Given the description of an element on the screen output the (x, y) to click on. 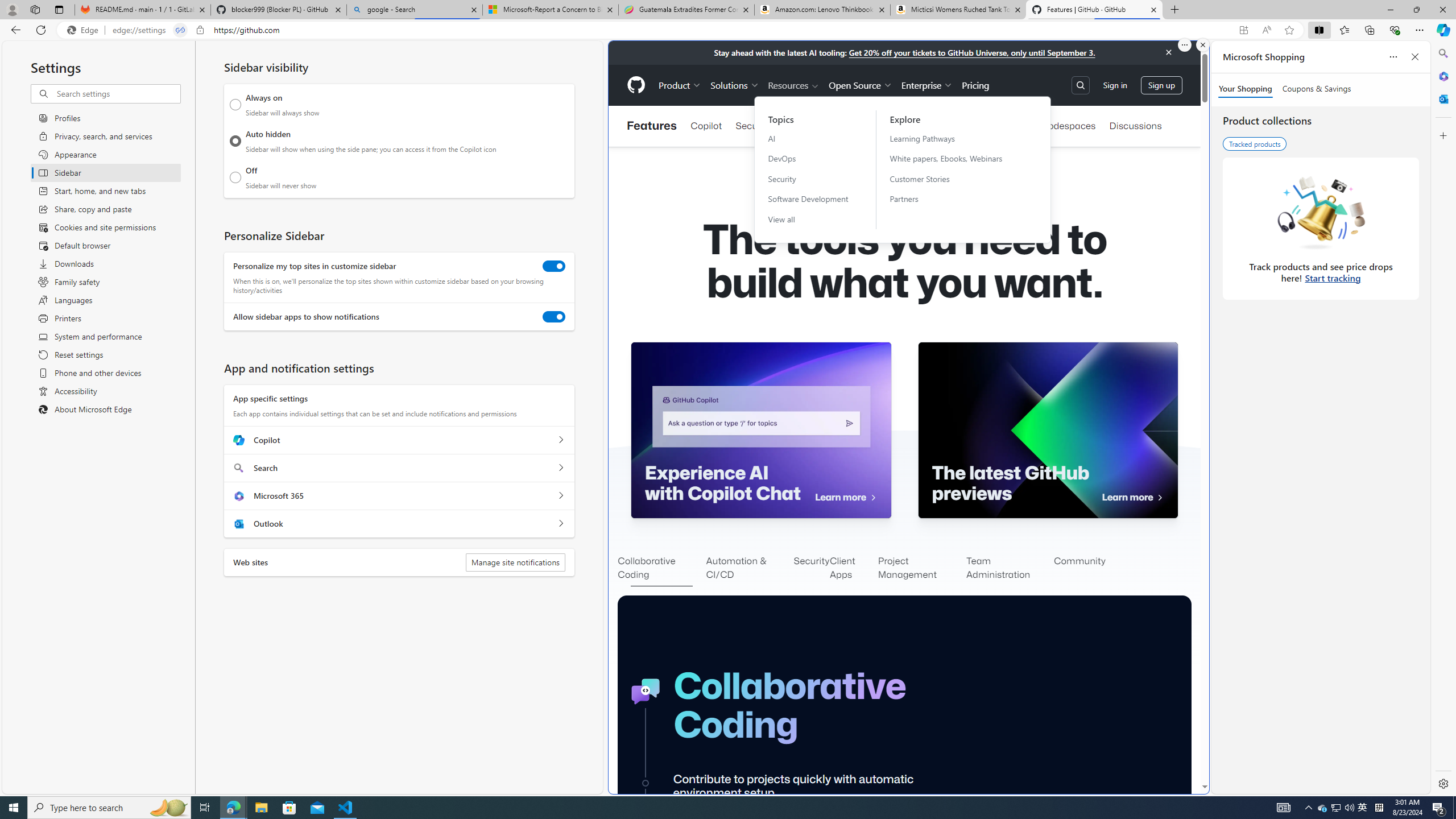
Class: octicon arrow-symbol-mktg octicon (1159, 497)
Sign up (1161, 84)
Code review (811, 125)
Tabs in split screen (180, 29)
Personalize my top sites in customize sidebar (553, 265)
More options. (1183, 45)
